Given the description of an element on the screen output the (x, y) to click on. 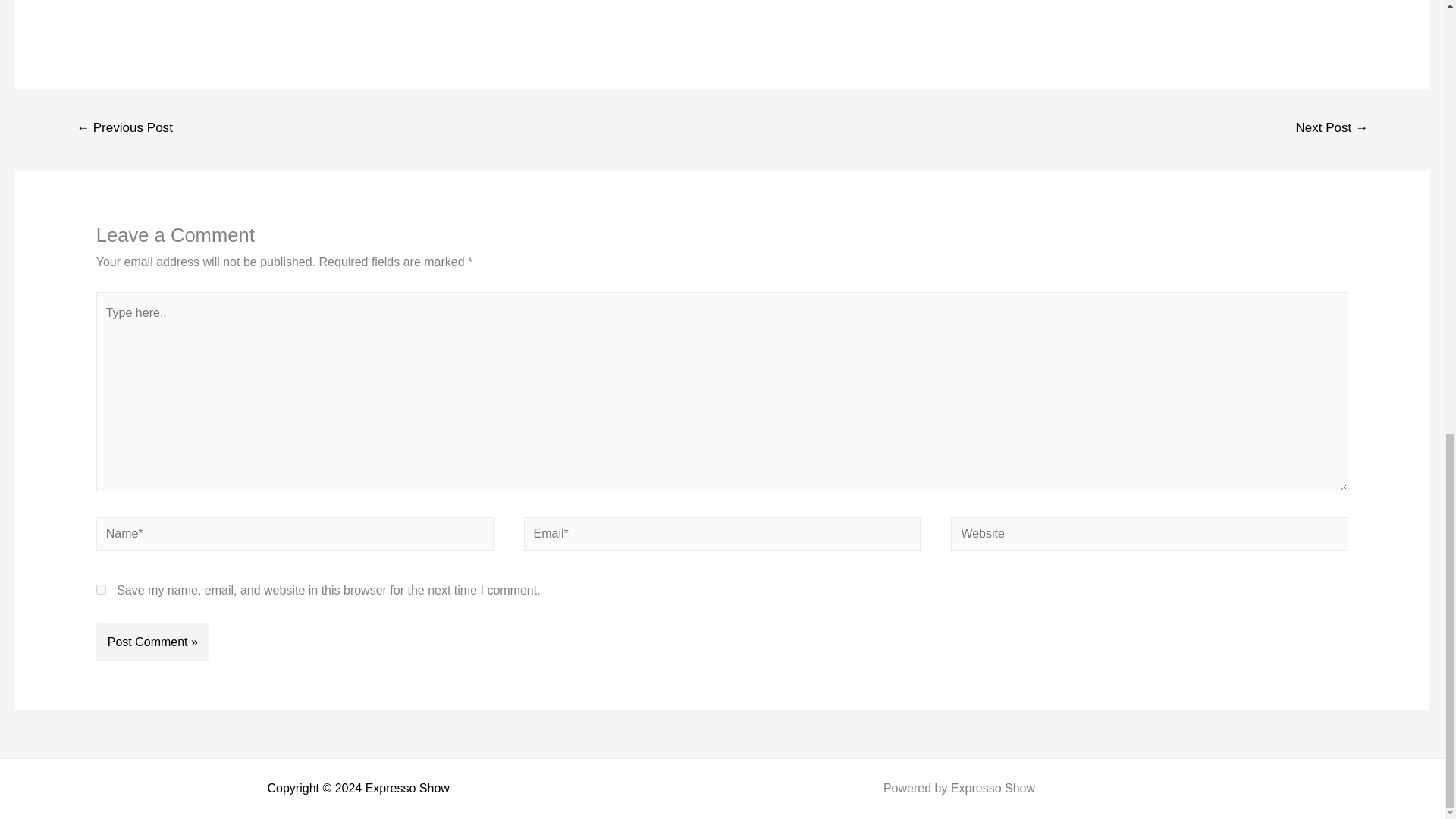
yes (101, 589)
